Given the description of an element on the screen output the (x, y) to click on. 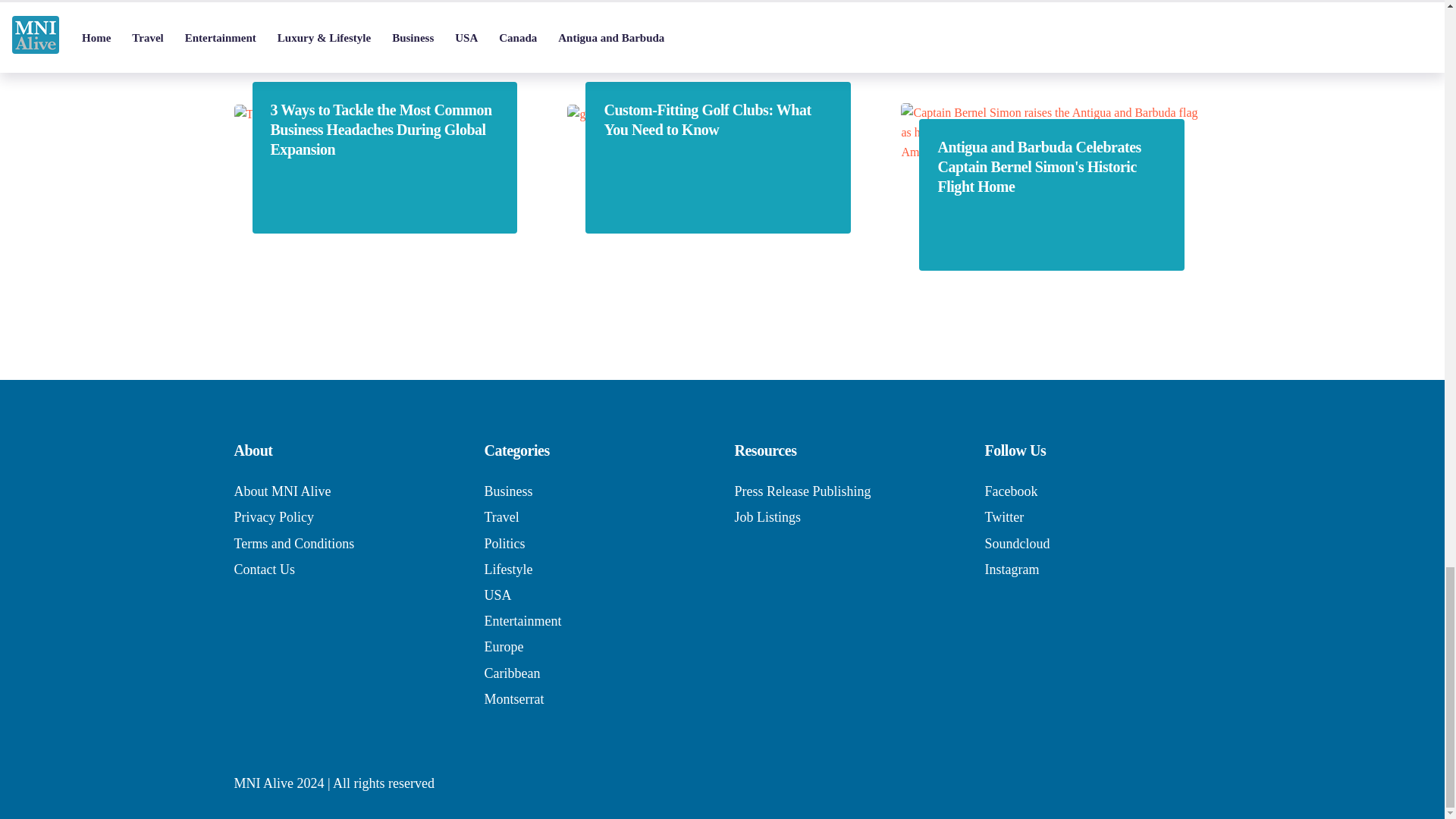
Lifestyle (507, 569)
Entertainment (521, 620)
Soundcloud (1016, 543)
USA (497, 595)
Job Listings (766, 516)
Business (507, 491)
About MNI Alive (281, 491)
Custom-Fitting Golf Clubs: What You Need to Know (717, 119)
Politics (503, 543)
